Given the description of an element on the screen output the (x, y) to click on. 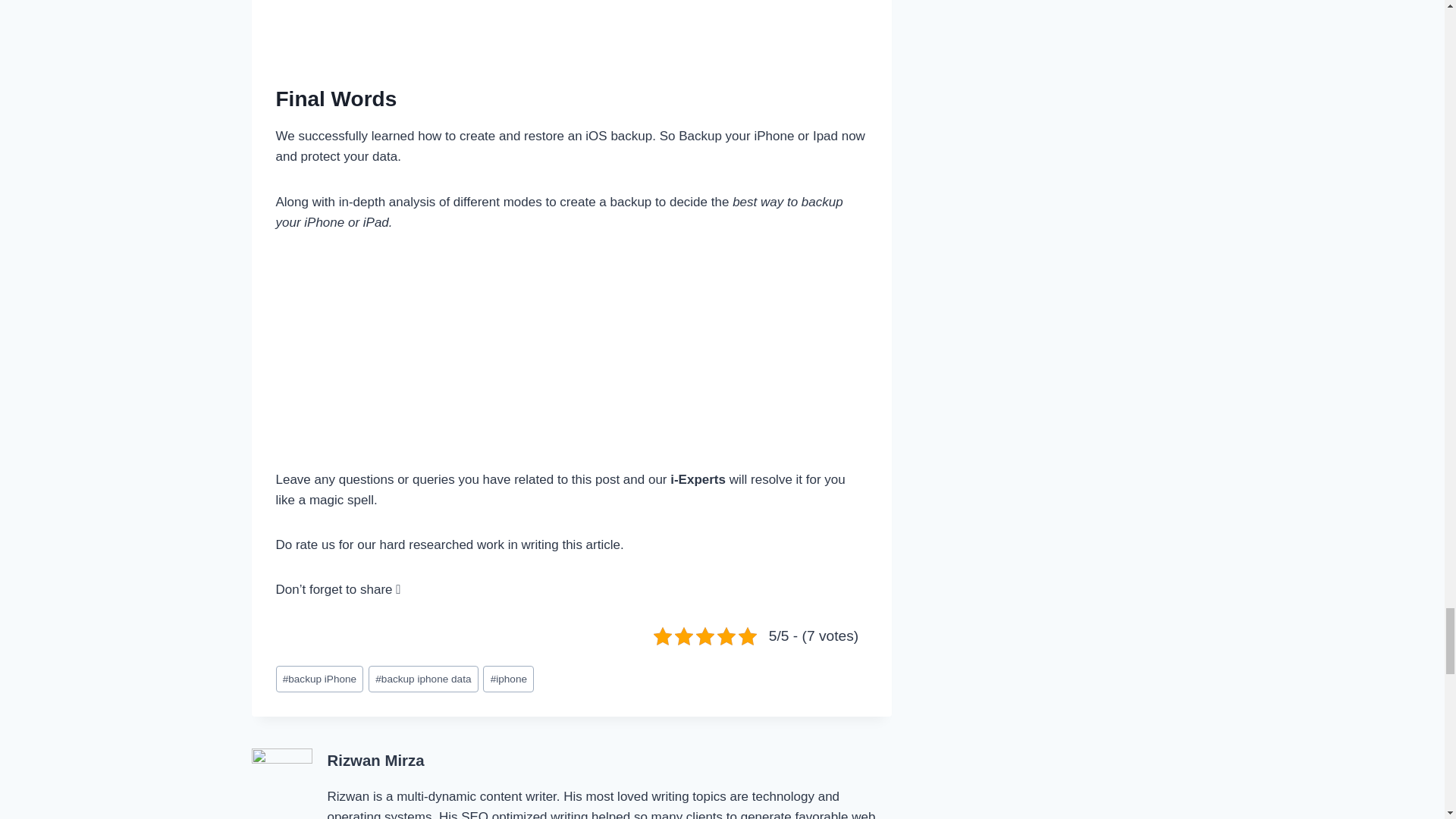
backup iPhone (320, 678)
Rizwan Mirza (376, 760)
backup iphone data (423, 678)
Posts by Rizwan Mirza (376, 760)
iphone (508, 678)
